Given the description of an element on the screen output the (x, y) to click on. 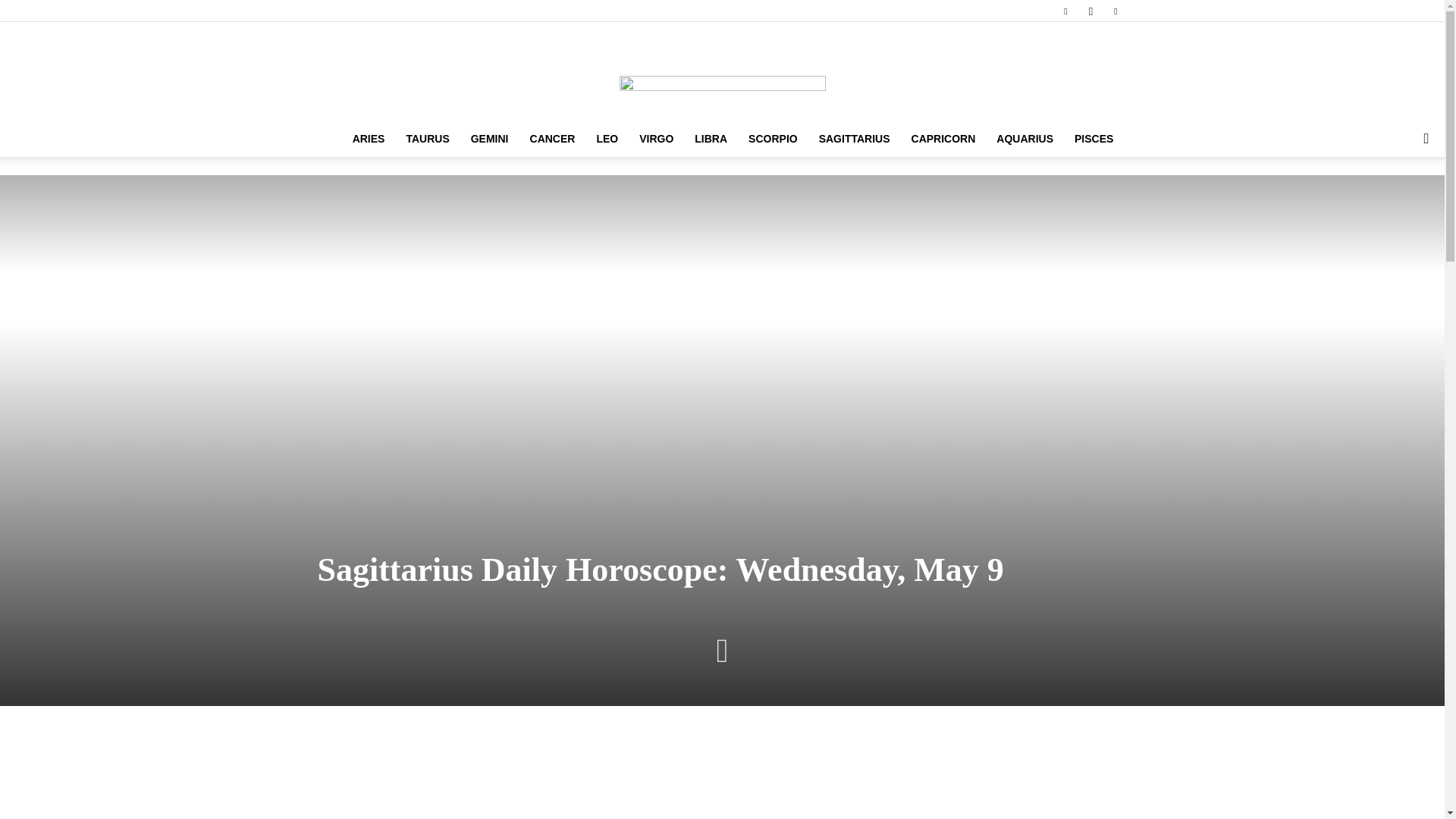
Facebook (1065, 10)
Instagram (1090, 10)
Pinterest (1114, 10)
